Given the description of an element on the screen output the (x, y) to click on. 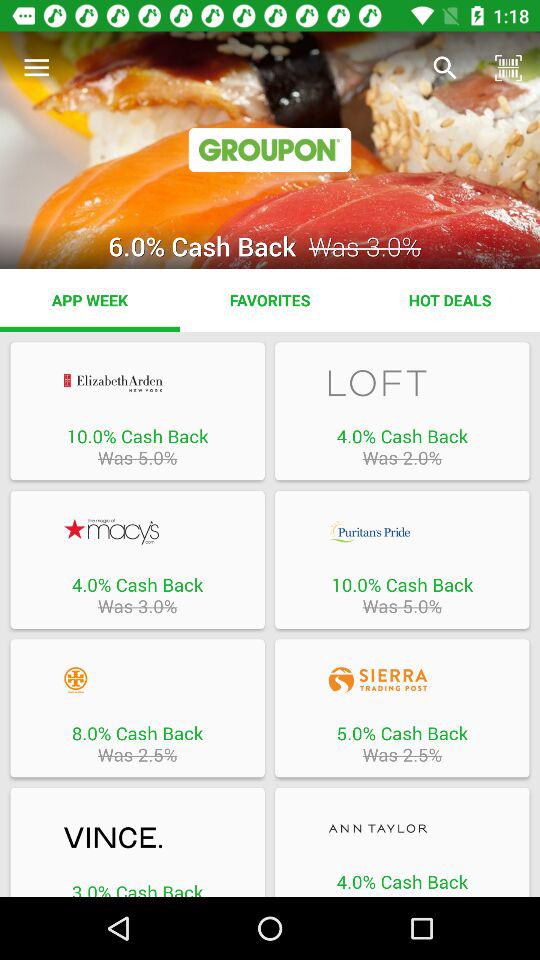
open vince cash back option (137, 838)
